Given the description of an element on the screen output the (x, y) to click on. 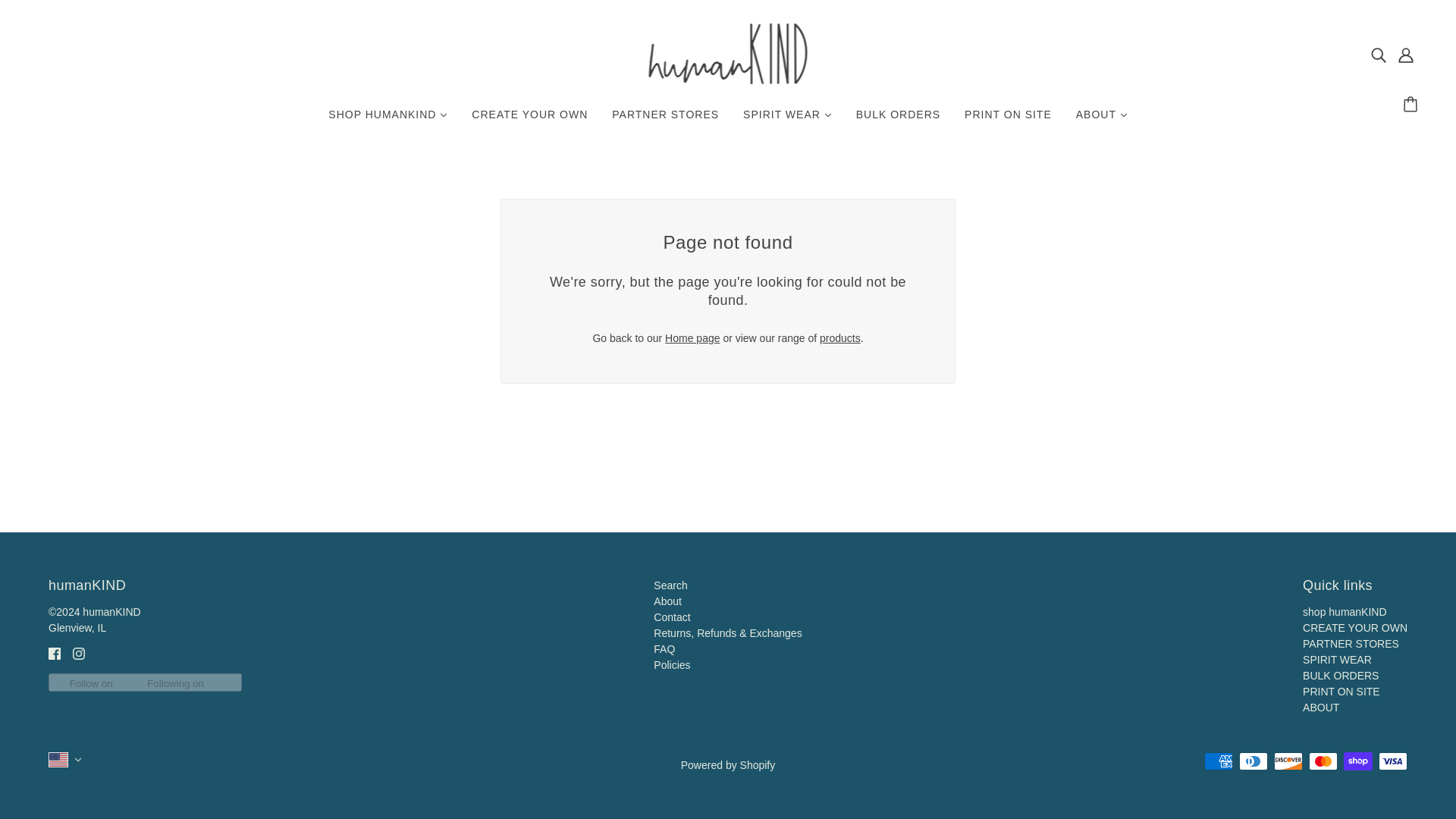
SPIRIT WEAR (1337, 659)
SPIRIT WEAR  (787, 120)
BULK ORDERS (1340, 674)
About (667, 601)
PARTNER STORES (664, 120)
Policies (671, 664)
ABOUT  (1102, 120)
FAQ (664, 648)
CREATE YOUR OWN (529, 120)
About (667, 601)
shop humanKIND (1345, 611)
CREATE YOUR OWN (1355, 627)
ABOUT (1321, 706)
SHOP HUMANKIND  (387, 120)
Contact (671, 616)
